Given the description of an element on the screen output the (x, y) to click on. 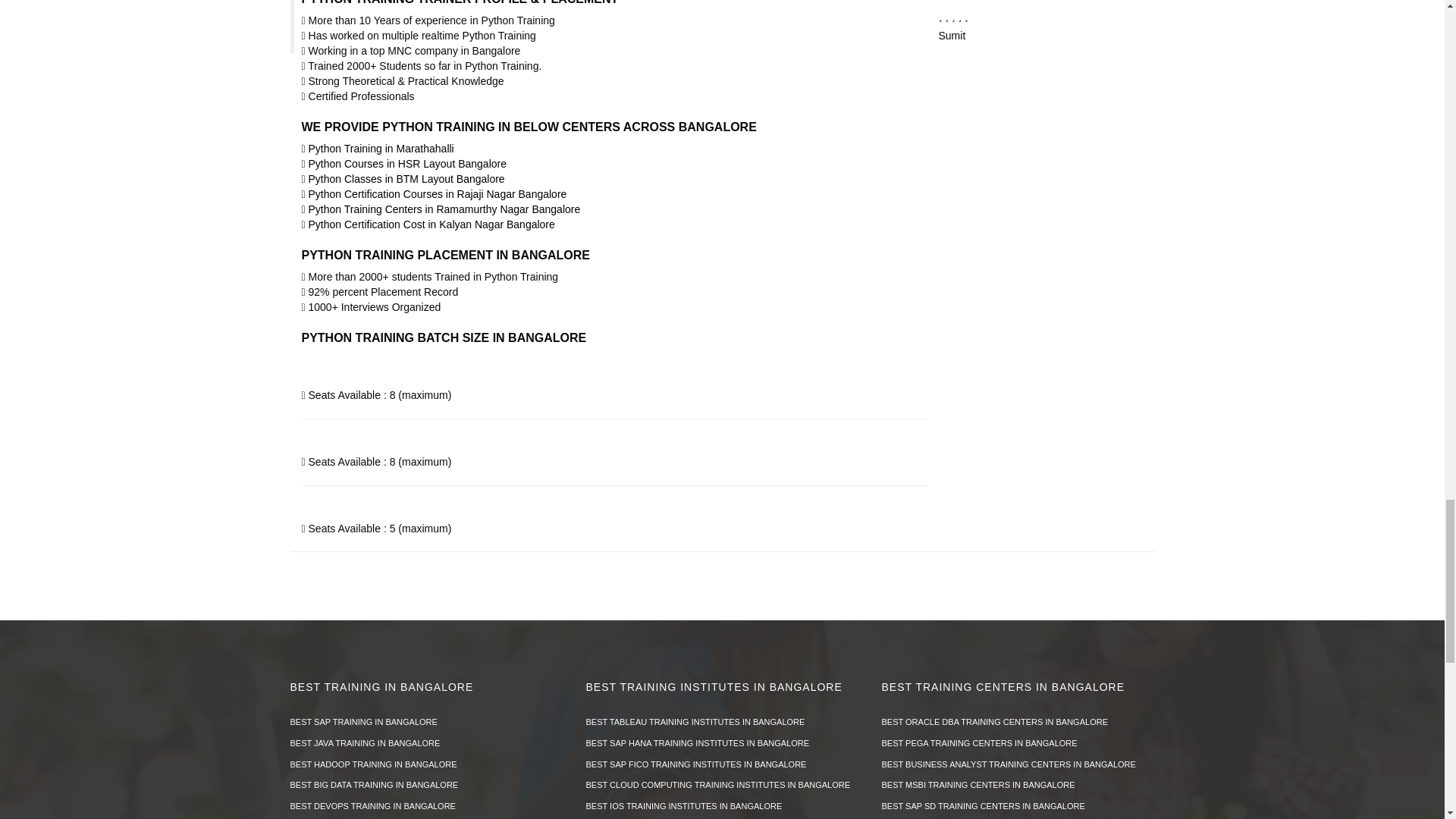
Python Classes in BTM Layout Bangalore (403, 178)
Python Training Centers in Ramamurthy Nagar Bangalore (440, 209)
Python Certification Courses in Rajaji Nagar Bangalore (434, 193)
Python Training Centers in Ramamurthy Nagar Bangalore (440, 209)
Python Classes in BTM Layout Bangalore (403, 178)
Python Training in Marathahalli (377, 148)
Python Certification Cost in Kalyan Nagar Bangalore (427, 224)
Python Certification Cost in Kalyan Nagar Bangalore (427, 224)
Python Training in Marathahalli (377, 148)
Python Certification Courses in Rajaji Nagar Bangalore (434, 193)
